Given the description of an element on the screen output the (x, y) to click on. 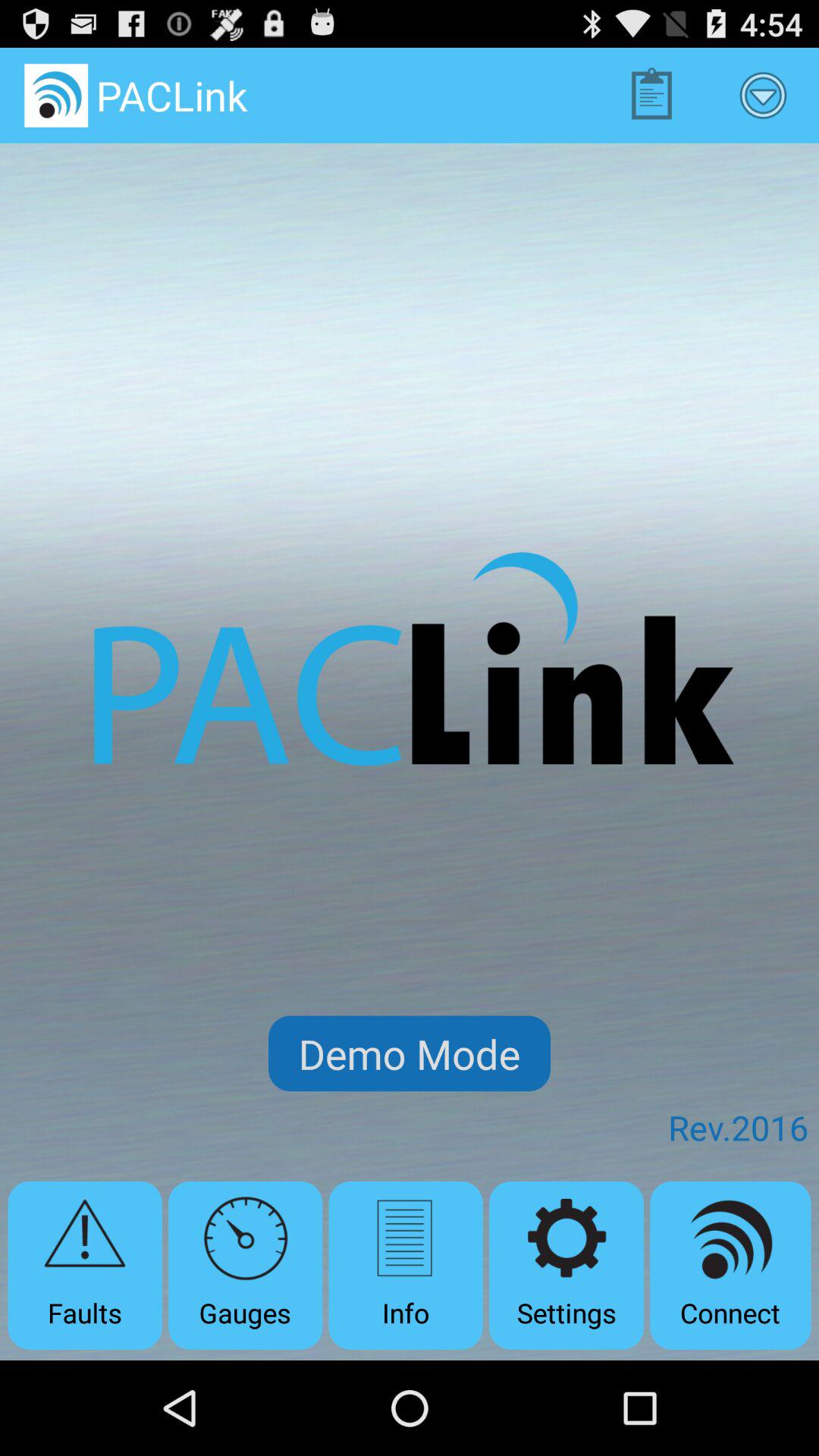
open faults button (84, 1265)
